Given the description of an element on the screen output the (x, y) to click on. 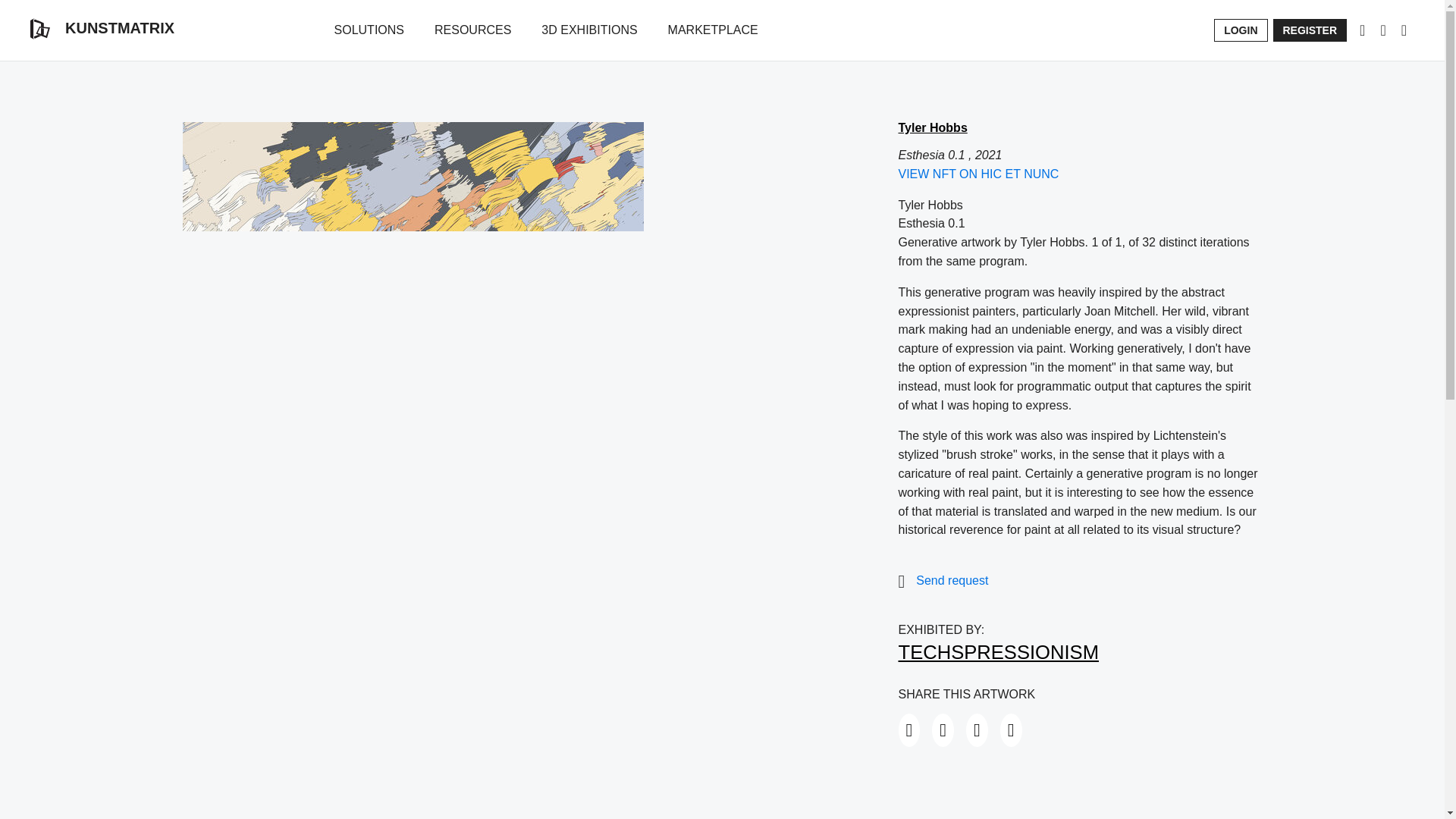
MARKETPLACE (713, 29)
REGISTER (1309, 29)
3D EXHIBITIONS (589, 29)
SOLUTIONS (369, 29)
RESOURCES (472, 29)
LOGIN (1240, 29)
KUNSTMATRIX (102, 28)
